Given the description of an element on the screen output the (x, y) to click on. 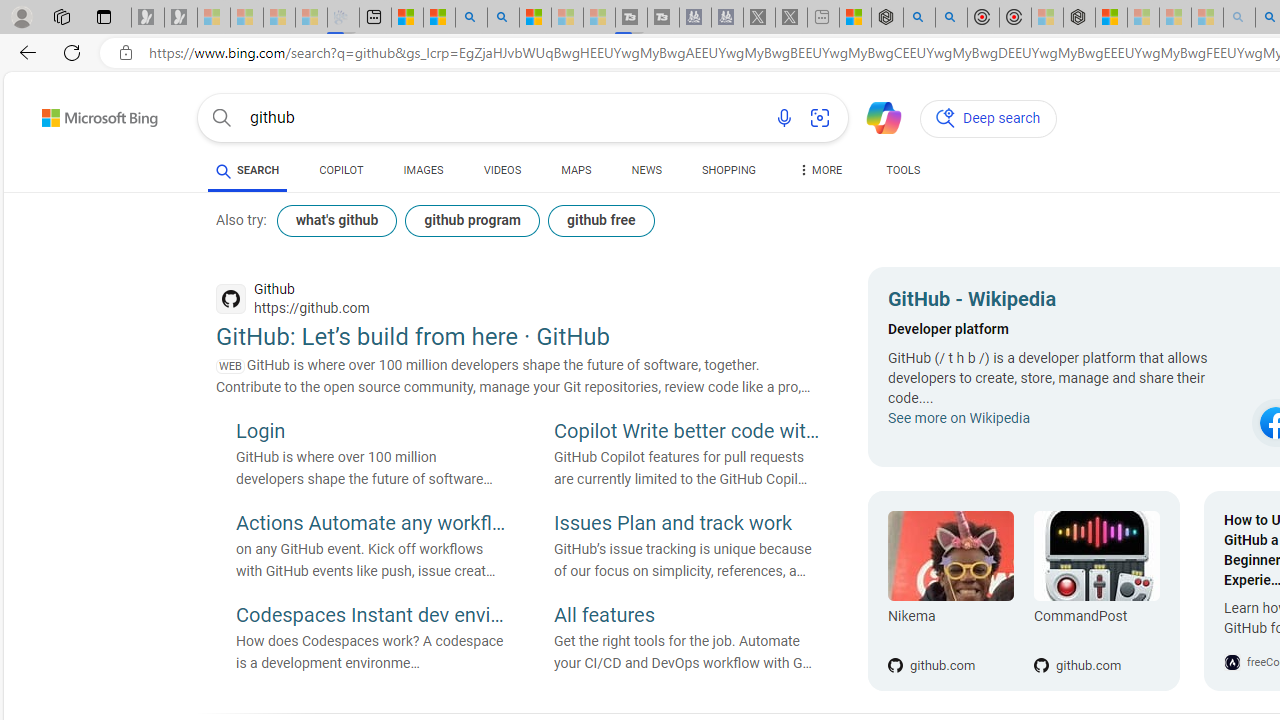
Chat (875, 116)
what's github (336, 220)
TOOLS (903, 173)
NEWS (646, 173)
COPILOT (341, 173)
Chat (875, 116)
